Given the description of an element on the screen output the (x, y) to click on. 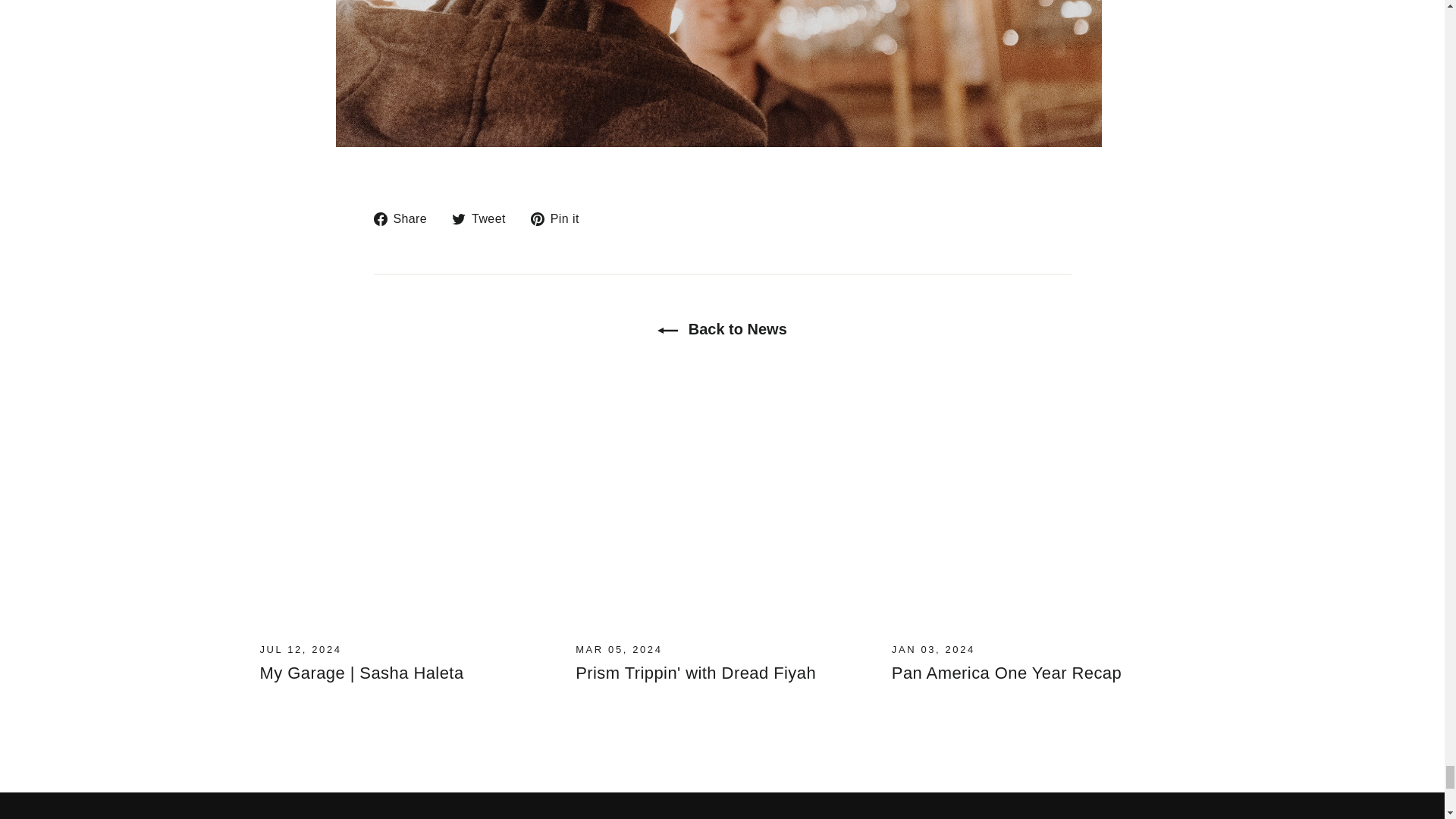
Share on Facebook (405, 218)
Pin on Pinterest (561, 218)
Tweet on Twitter (483, 218)
